Given the description of an element on the screen output the (x, y) to click on. 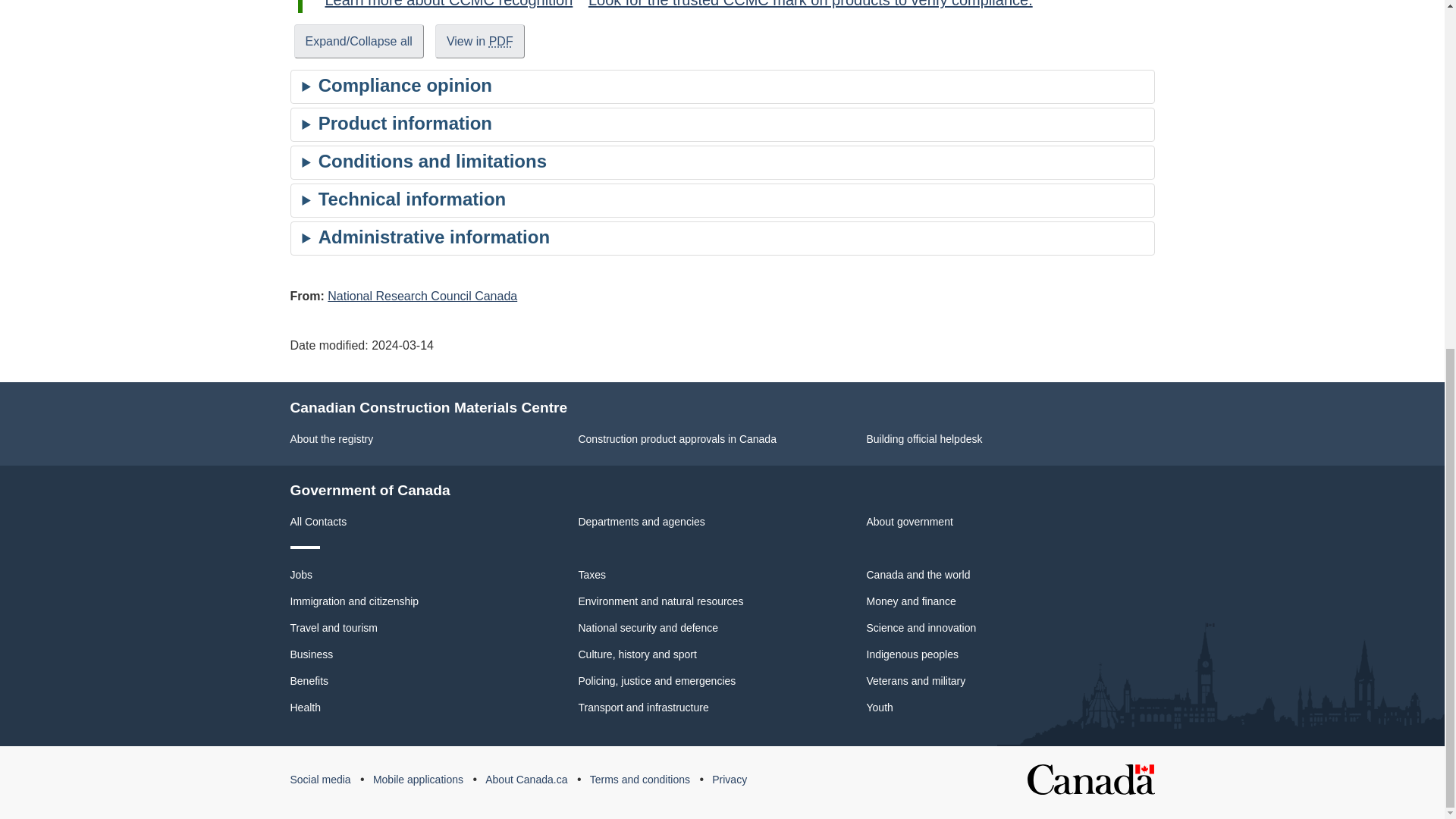
View in PDF (479, 41)
Learn more about CCMC recognition (448, 4)
Portable document format (501, 41)
